Given the description of an element on the screen output the (x, y) to click on. 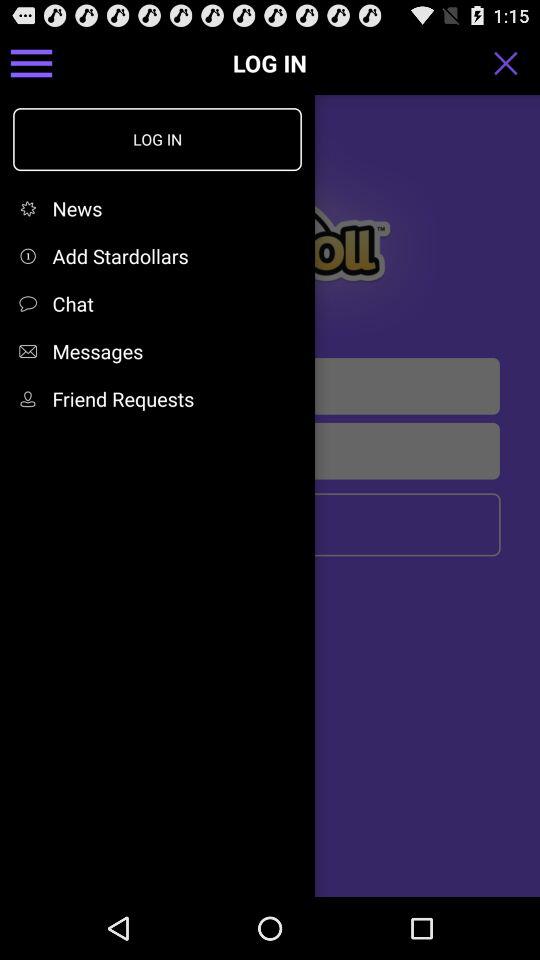
select the icon which is beside the news (32, 208)
select the login in which is above the news (156, 138)
